Given the description of an element on the screen output the (x, y) to click on. 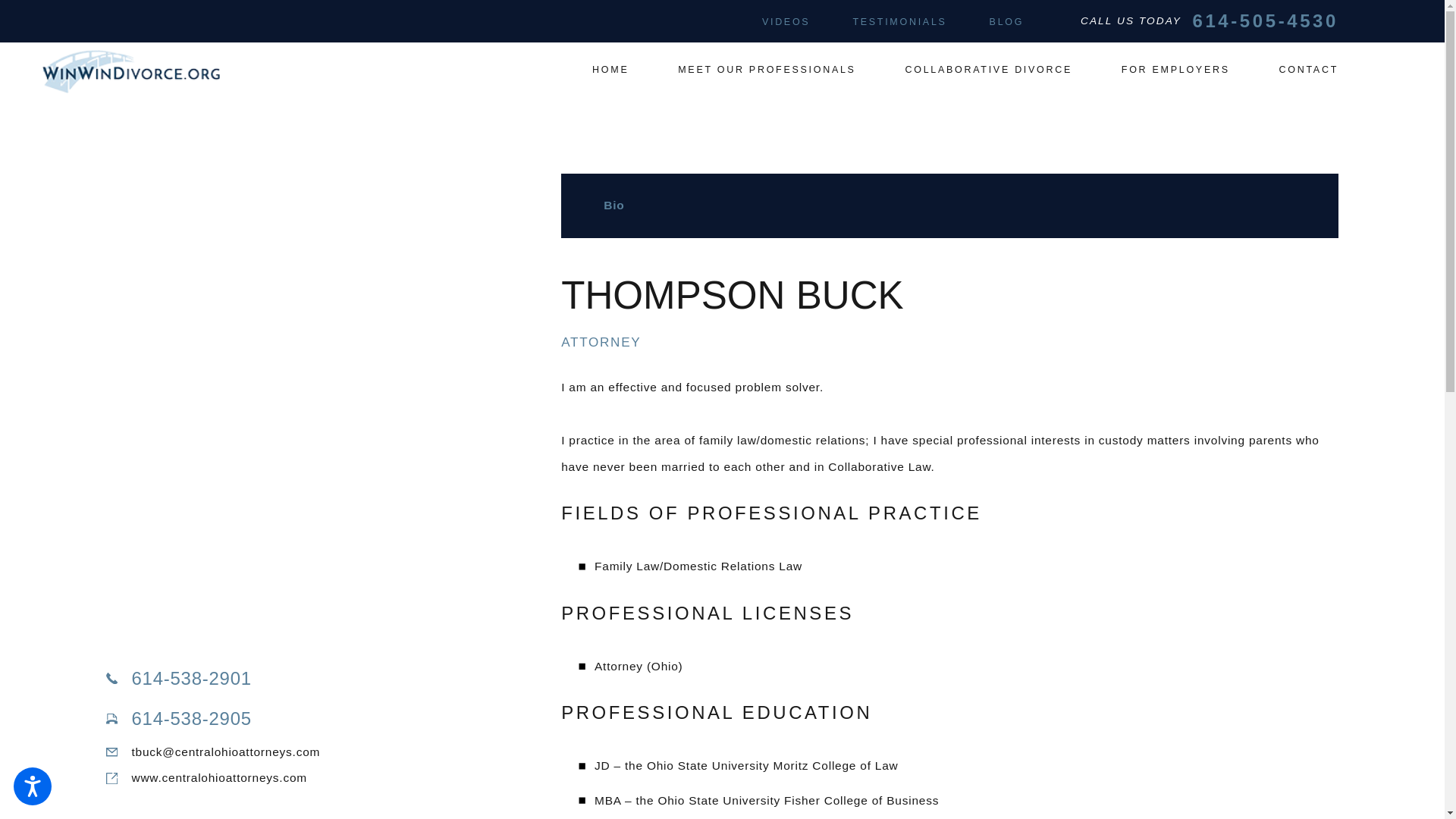
614-505-4530 (1265, 21)
Bio (949, 205)
Website Icon (111, 778)
Fax Icon (111, 718)
TESTIMONIALS (898, 21)
HOME (610, 69)
Open the accessibility options menu (31, 786)
Email Address Icon (111, 751)
Phone Icon (111, 678)
Win Win Divorce (130, 71)
MEET OUR PROFESSIONALS (767, 69)
VIDEOS (785, 21)
BLOG (1007, 21)
